Given the description of an element on the screen output the (x, y) to click on. 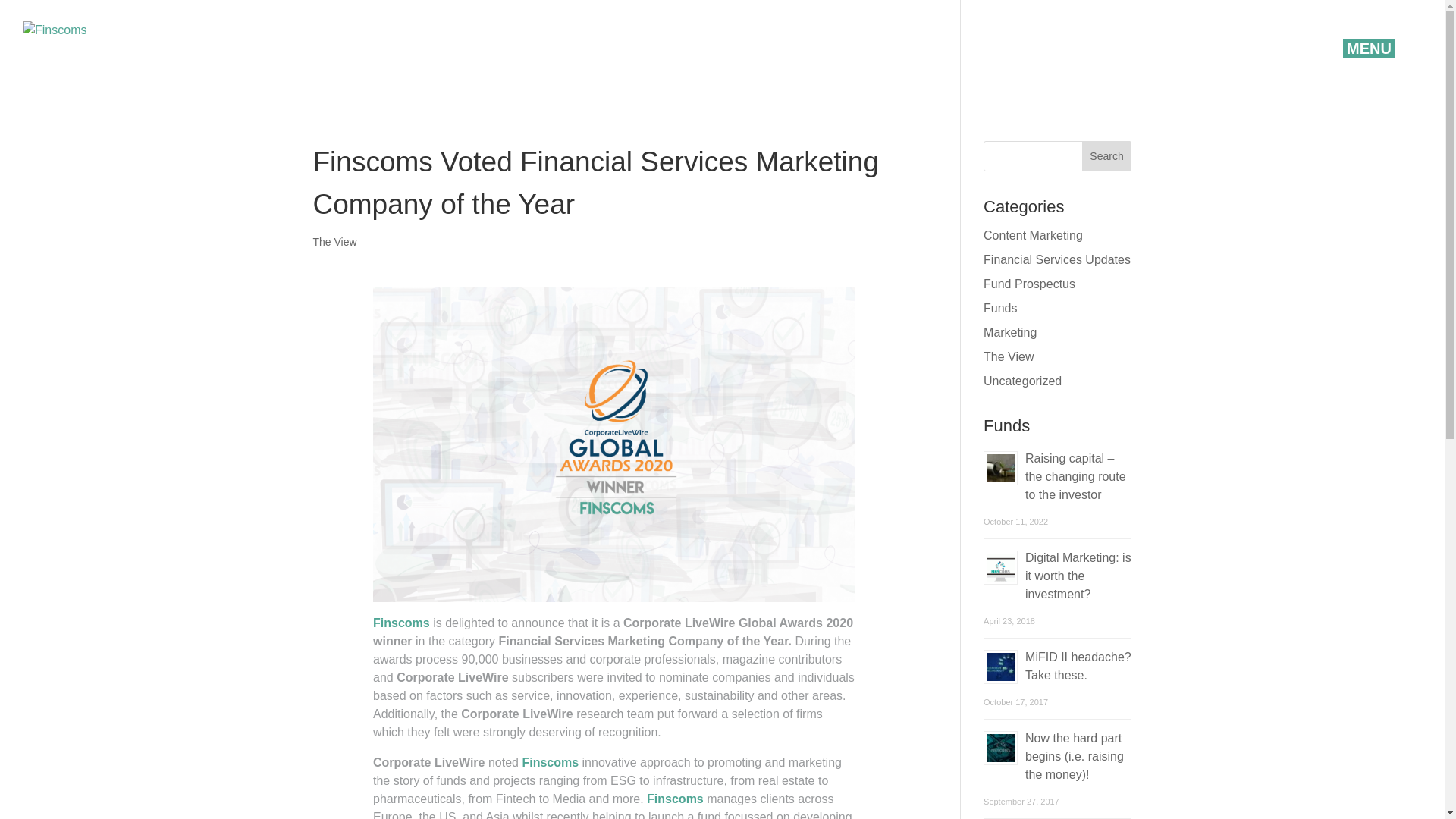
The View (1008, 356)
Fund Prospectus (1029, 283)
MiFID II headache? Take these. (1078, 665)
Search (1106, 155)
Financial Services Updates (1057, 259)
Content Marketing (1033, 235)
Uncategorized (1022, 380)
Funds (1000, 308)
Marketing (1010, 332)
The View (334, 241)
Digital Marketing: is it worth the investment? (1078, 575)
Search (1106, 155)
